Given the description of an element on the screen output the (x, y) to click on. 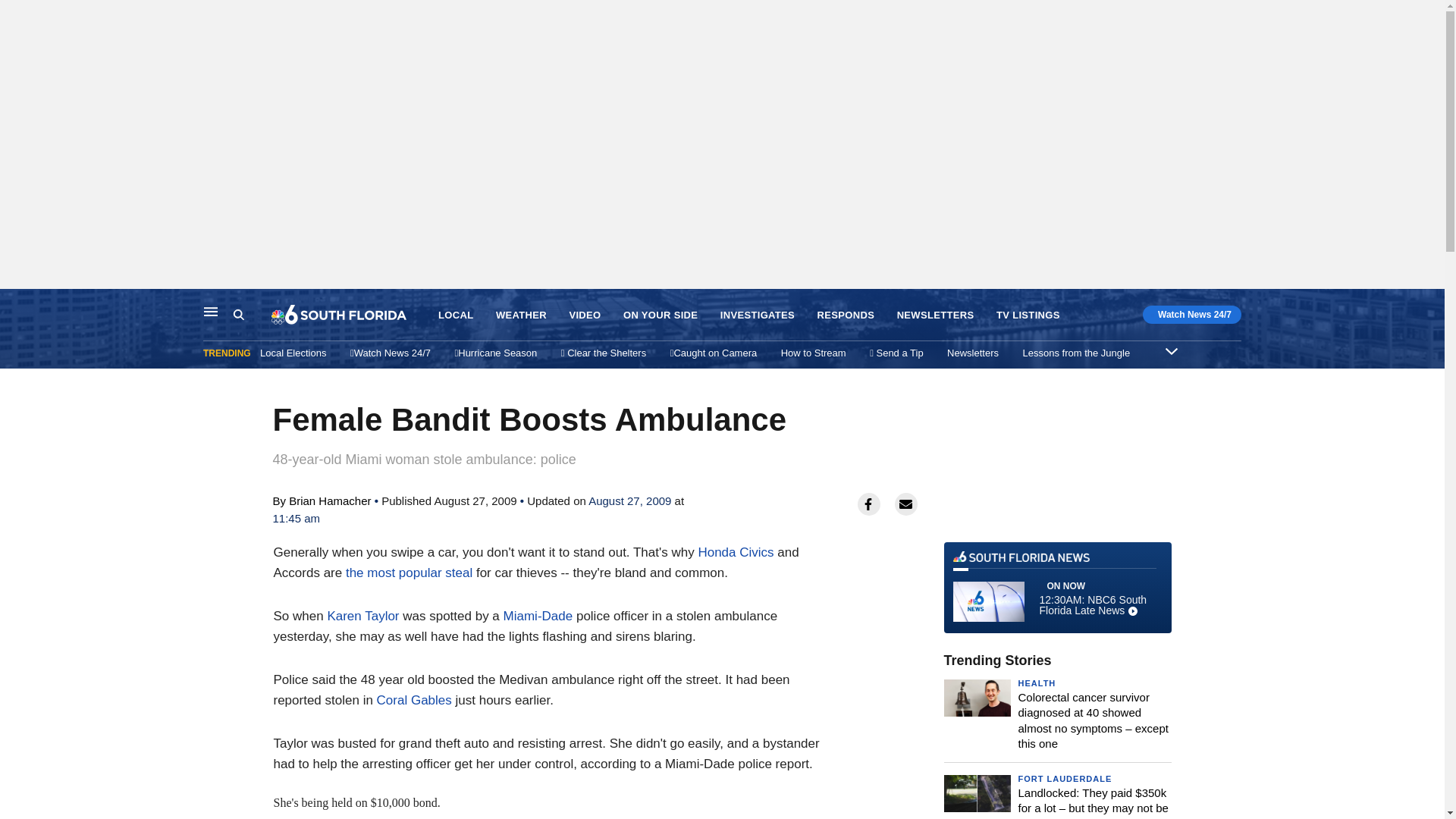
VIDEO (584, 315)
Local Elections (293, 352)
Honda Civics (735, 552)
Miami-Dade County (538, 616)
HEALTH (1036, 682)
Honda Civic (735, 552)
How to Stream (812, 352)
Skip to content (1056, 587)
LOCAL (16, 304)
